Given the description of an element on the screen output the (x, y) to click on. 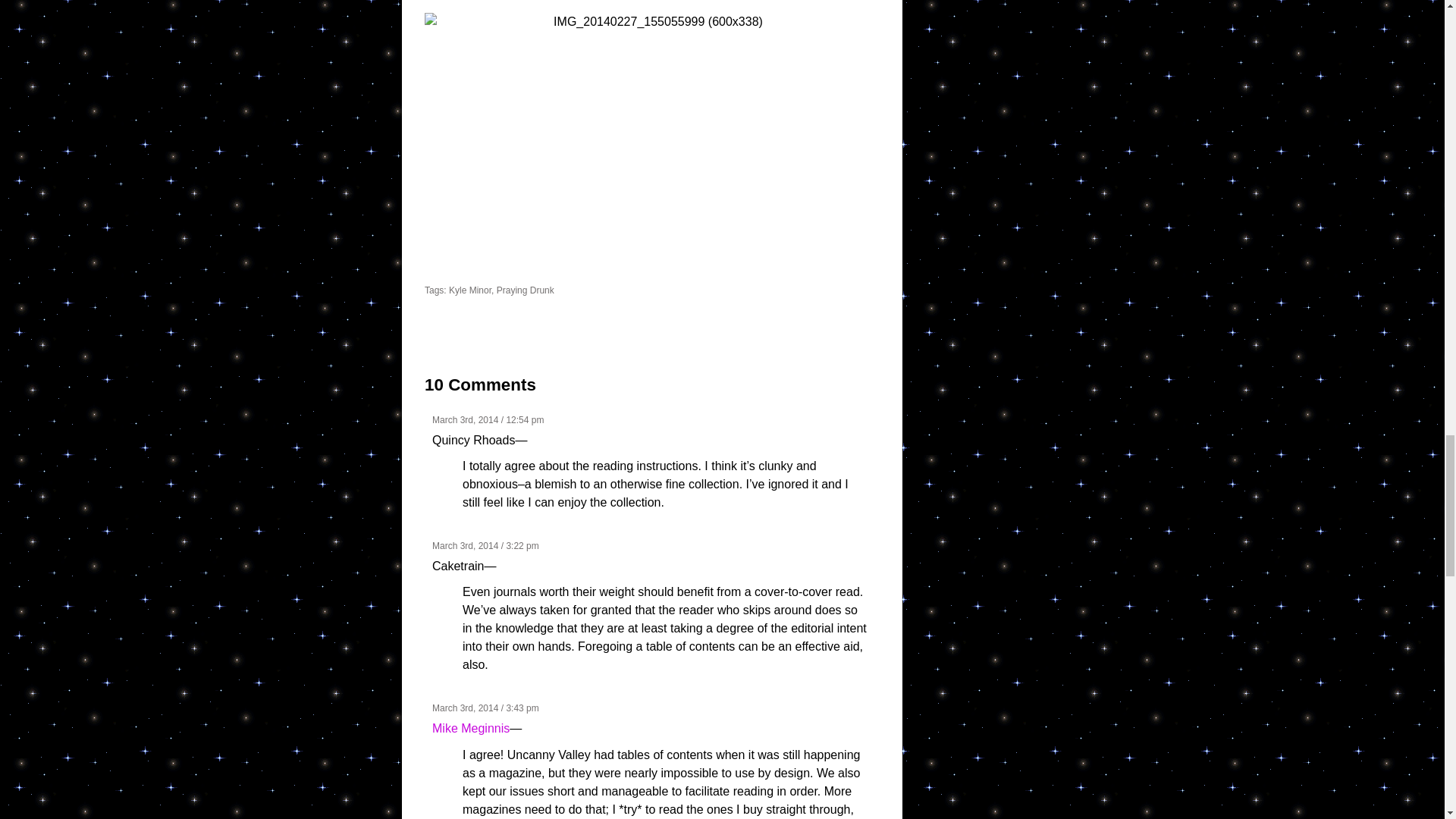
Kyle Minor (470, 290)
Praying Drunk (525, 290)
Mike Meginnis (470, 727)
